Given the description of an element on the screen output the (x, y) to click on. 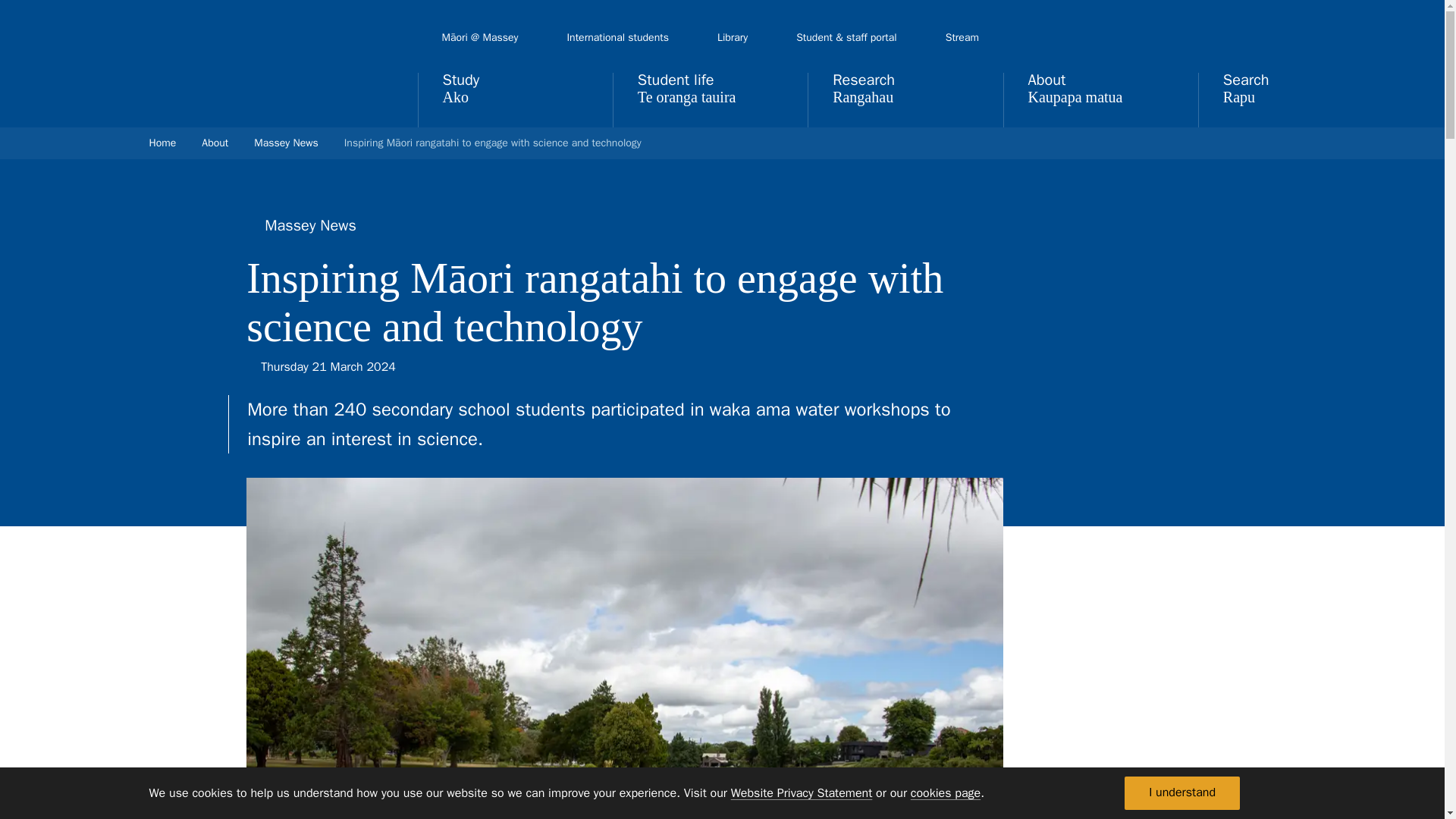
Library (732, 37)
International students (617, 37)
I understand (1182, 792)
Website Privacy Statement (801, 792)
cookies page (945, 792)
Stream (961, 37)
